Given the description of an element on the screen output the (x, y) to click on. 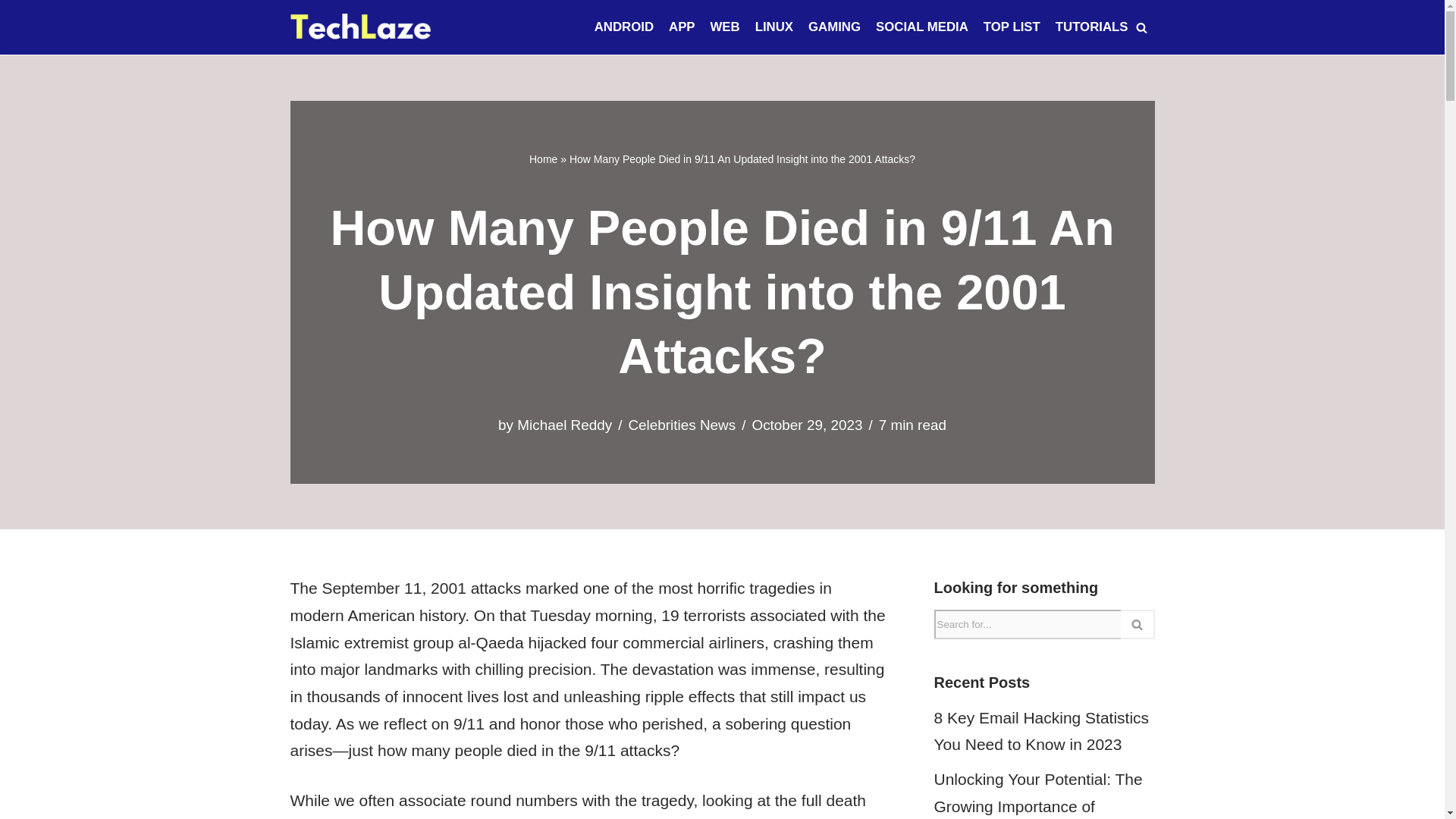
Celebrities News (681, 424)
LINUX (774, 27)
Posts by Michael Reddy (563, 424)
Home (543, 159)
TOP LIST (1012, 27)
TUTORIALS (1091, 27)
APP (681, 27)
Michael Reddy (563, 424)
WEB (724, 27)
SOCIAL MEDIA (922, 27)
GAMING (834, 27)
Skip to content (11, 31)
TechLaze (359, 26)
ANDROID (623, 27)
